Given the description of an element on the screen output the (x, y) to click on. 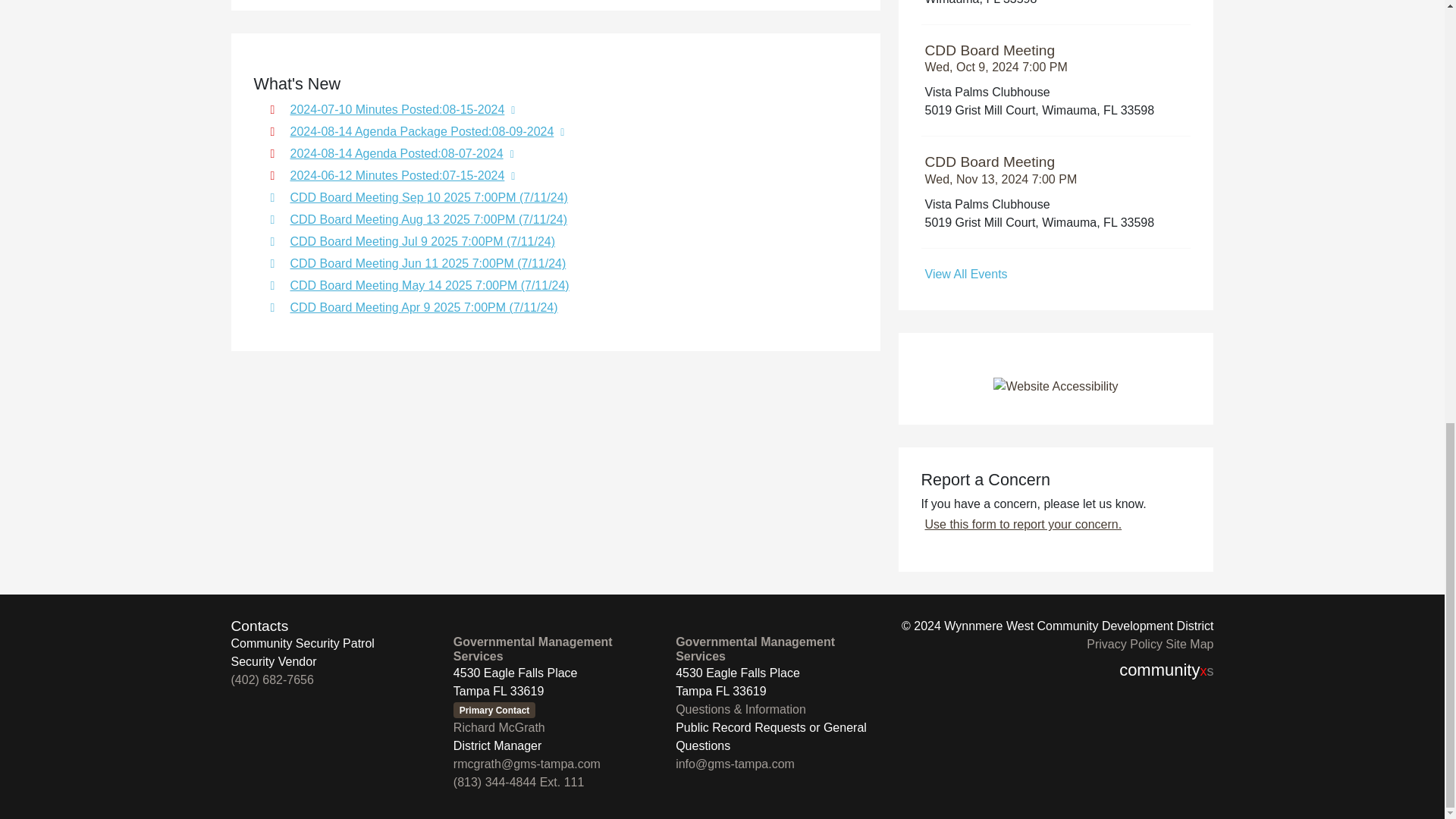
2024-08-14 Agenda Posted:08-07-2024 (560, 153)
View All Events (1055, 274)
2024-07-10 Minutes Posted:08-15-2024 (560, 108)
2024-08-14 Agenda Package Posted:08-09-2024 (560, 131)
2024-06-12 Minutes Posted:07-15-2024 (1055, 58)
